Given the description of an element on the screen output the (x, y) to click on. 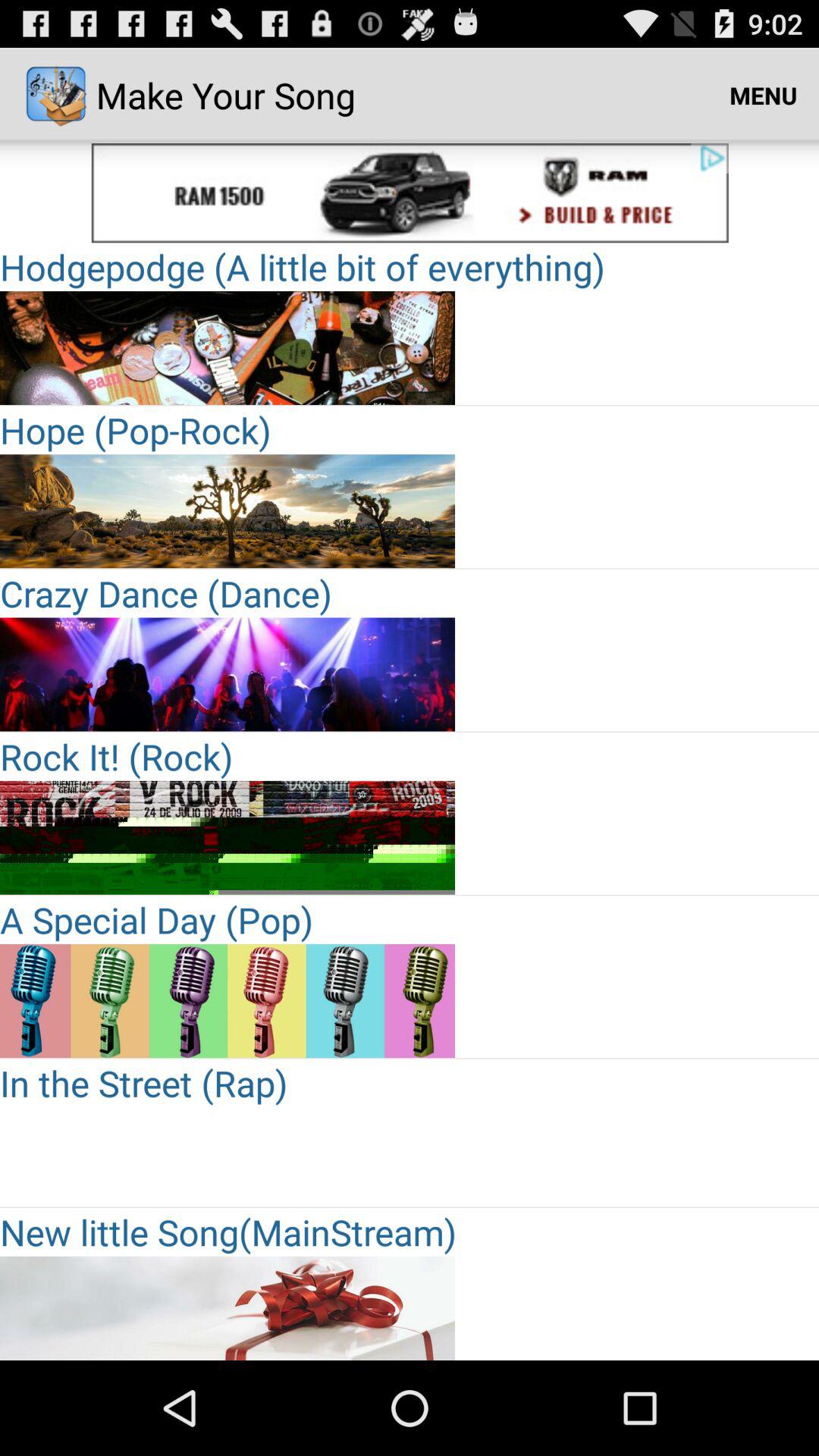
choose the selection (227, 1000)
